Given the description of an element on the screen output the (x, y) to click on. 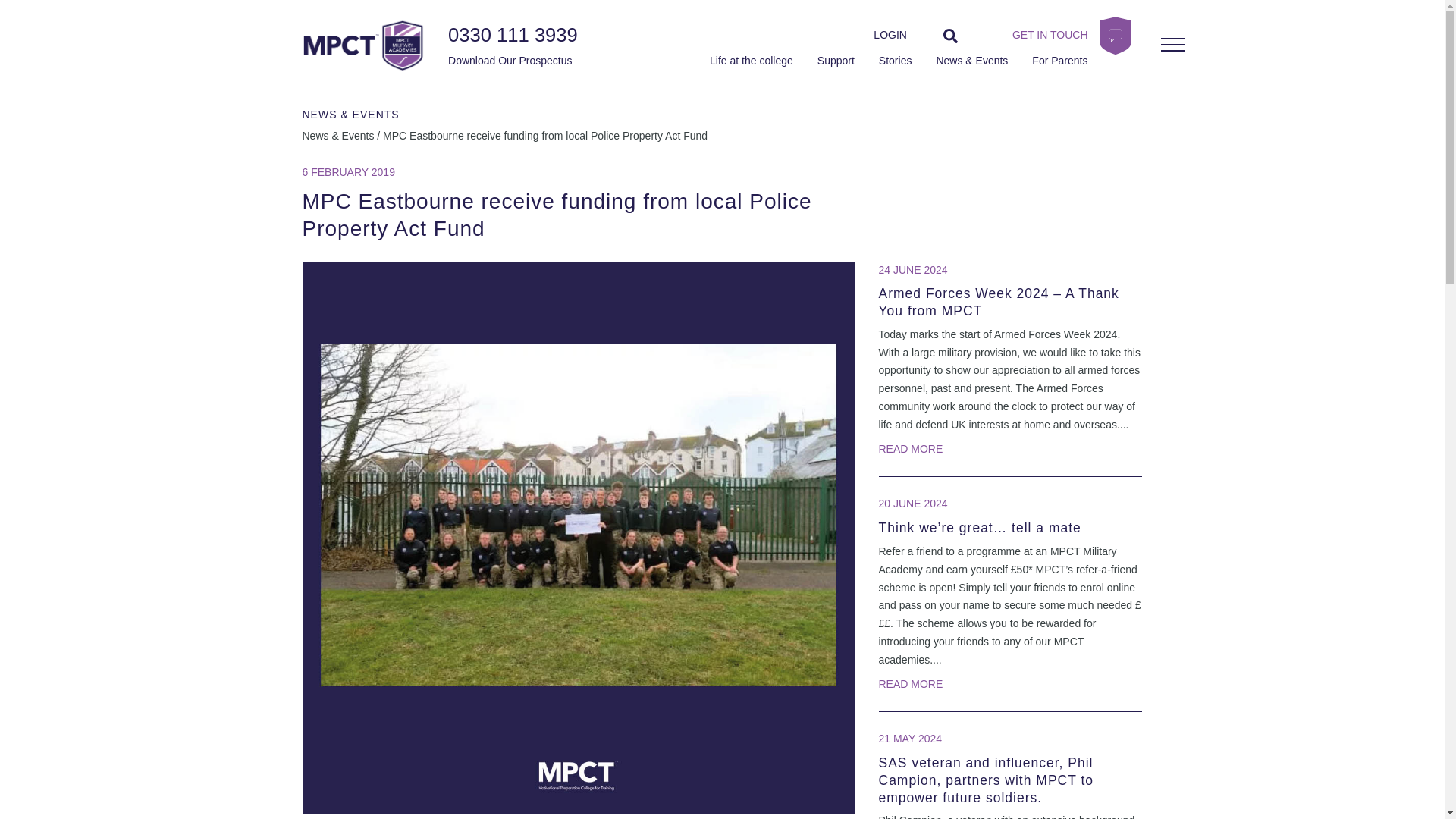
For Parents (1059, 60)
GET IN TOUCH (1040, 35)
Stories (895, 60)
Life at the college (751, 60)
Download Our Prospectus (507, 61)
0330 111 3939 (513, 34)
LOGIN (890, 35)
Support (835, 60)
